Given the description of an element on the screen output the (x, y) to click on. 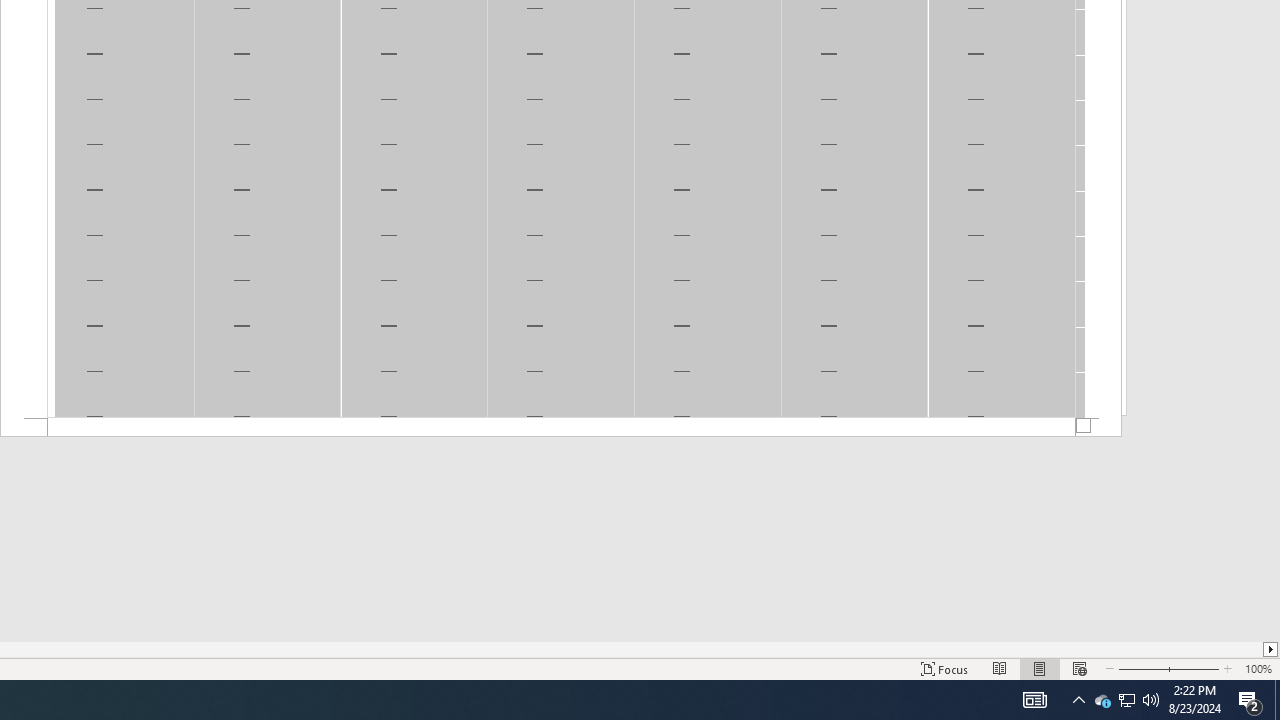
Footer -Section 1- (561, 427)
Column right (1271, 649)
